Given the description of an element on the screen output the (x, y) to click on. 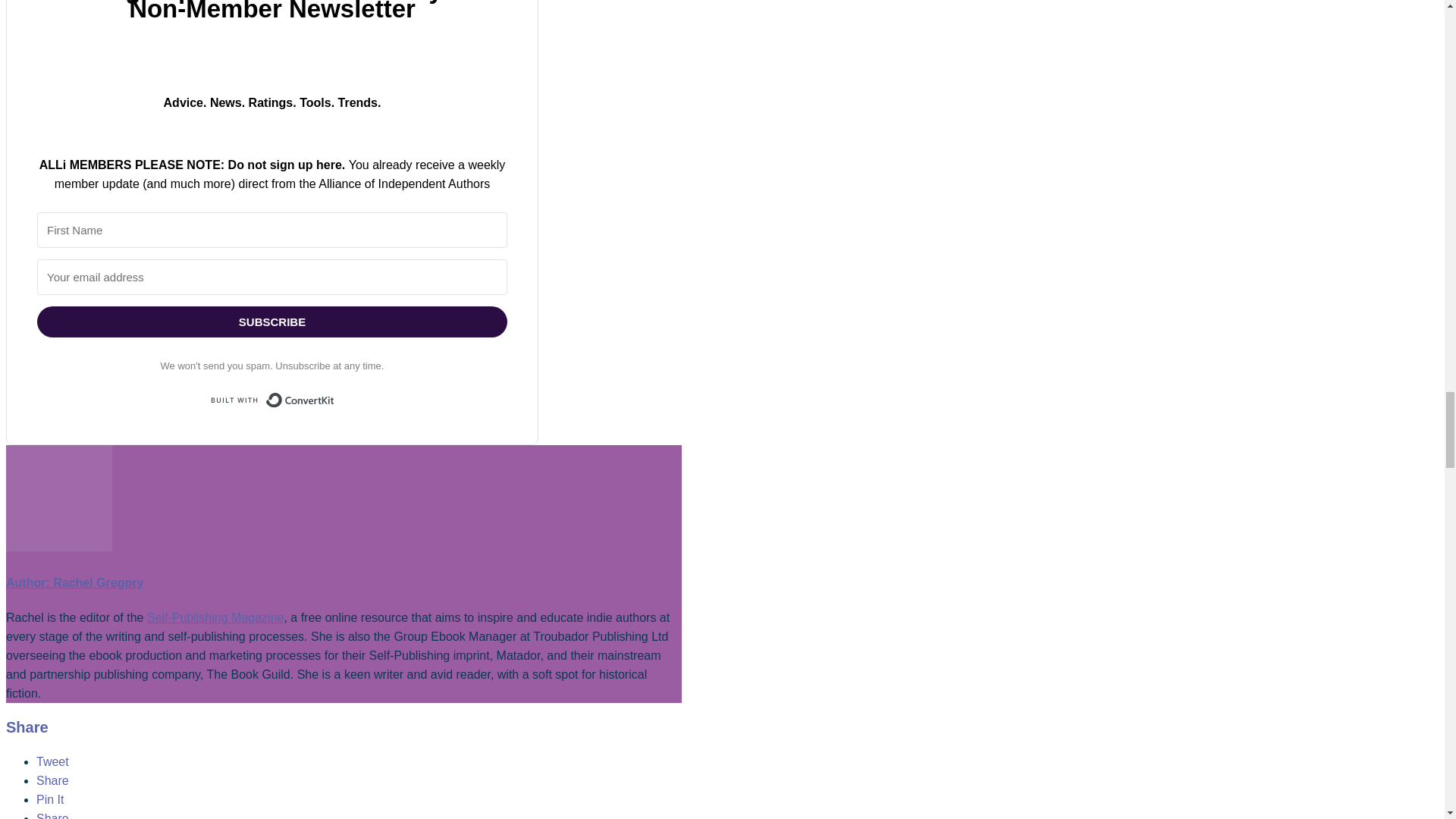
Visit Author Page (73, 582)
Visit Author Page (58, 546)
